Given the description of an element on the screen output the (x, y) to click on. 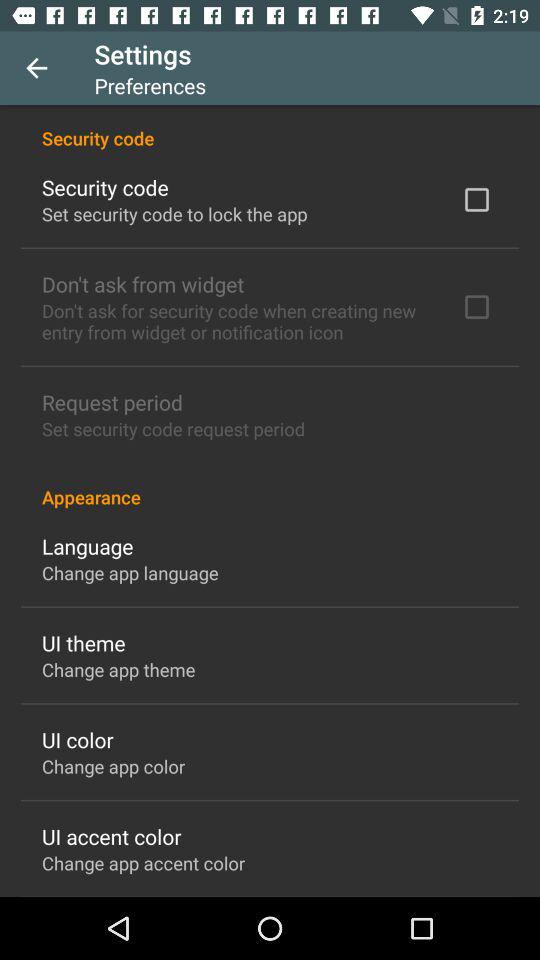
open the icon to the left of settings icon (36, 68)
